Given the description of an element on the screen output the (x, y) to click on. 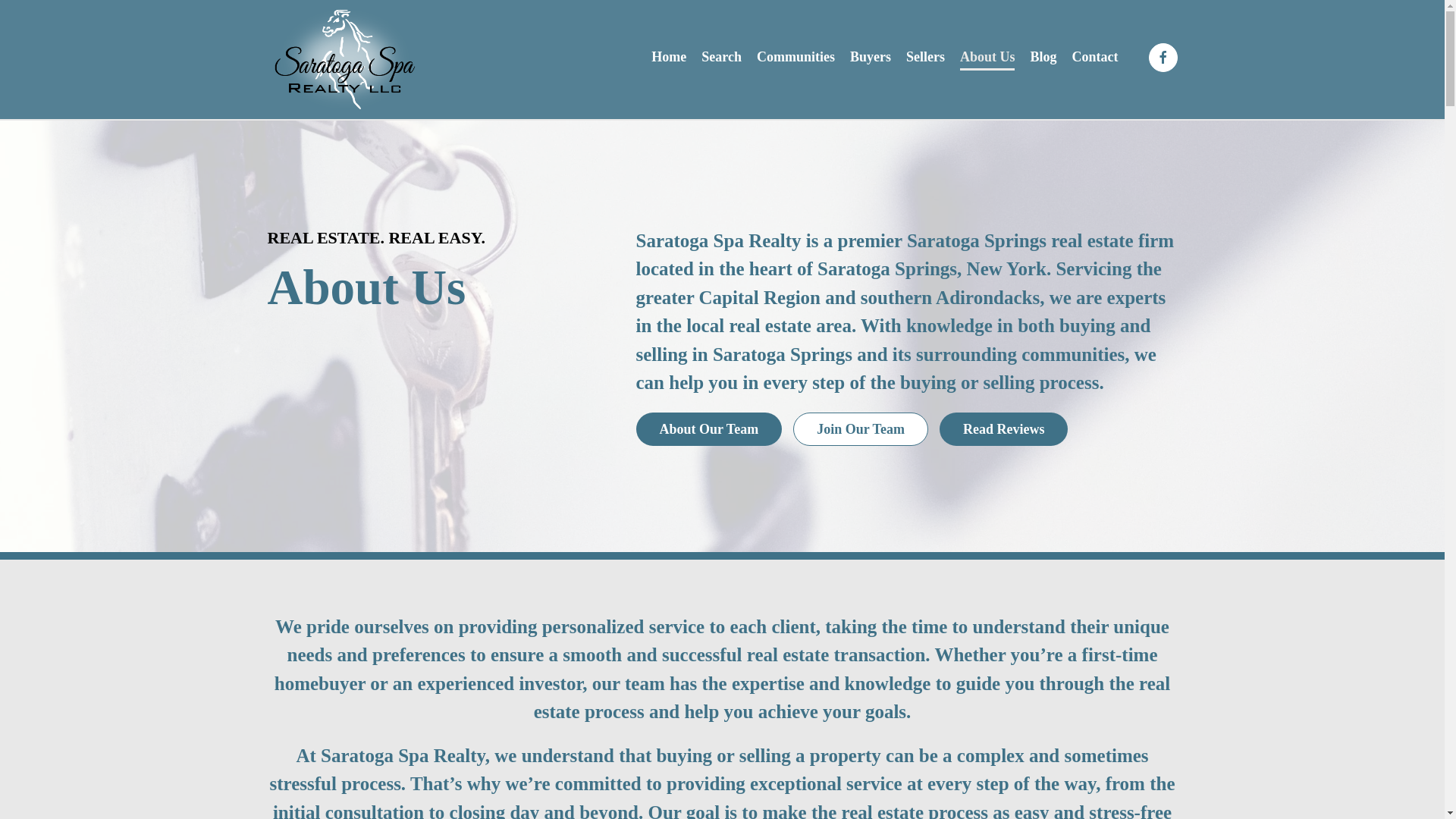
Join Our Team (860, 428)
Sellers (905, 428)
Home (924, 57)
Blog (667, 57)
About Our Team (1043, 57)
REAL ESTATE. REAL EASY. (707, 428)
Search (437, 238)
Buyers (721, 57)
About Us (870, 57)
